Given the description of an element on the screen output the (x, y) to click on. 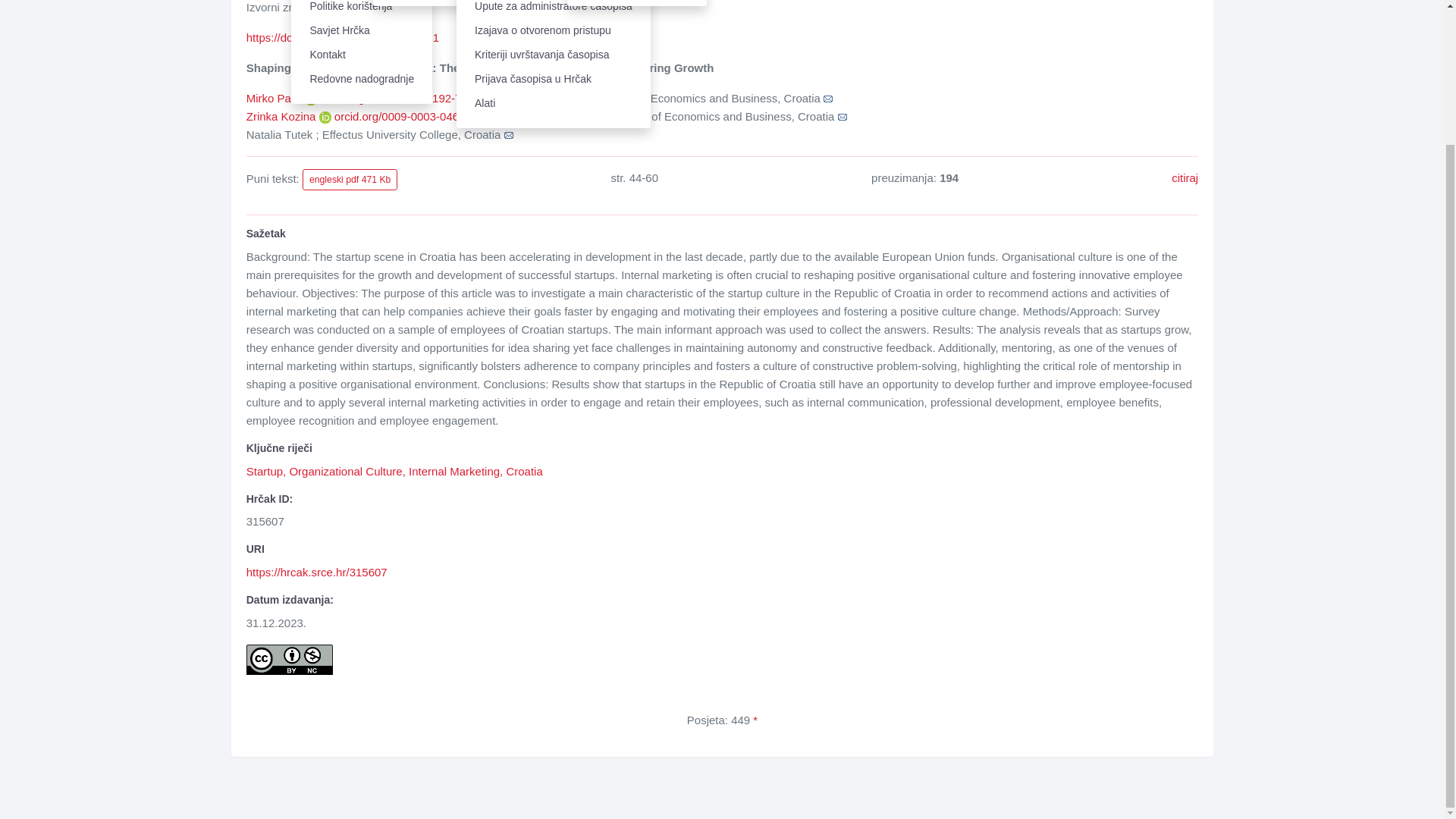
Alati (553, 103)
mail (828, 98)
mail (841, 116)
doi (342, 37)
mail (508, 134)
Izajava o otvorenom pristupu (553, 30)
Zrinka Kozina (282, 115)
Redovne nadogradnje (361, 79)
Kontakt (361, 55)
